Given the description of an element on the screen output the (x, y) to click on. 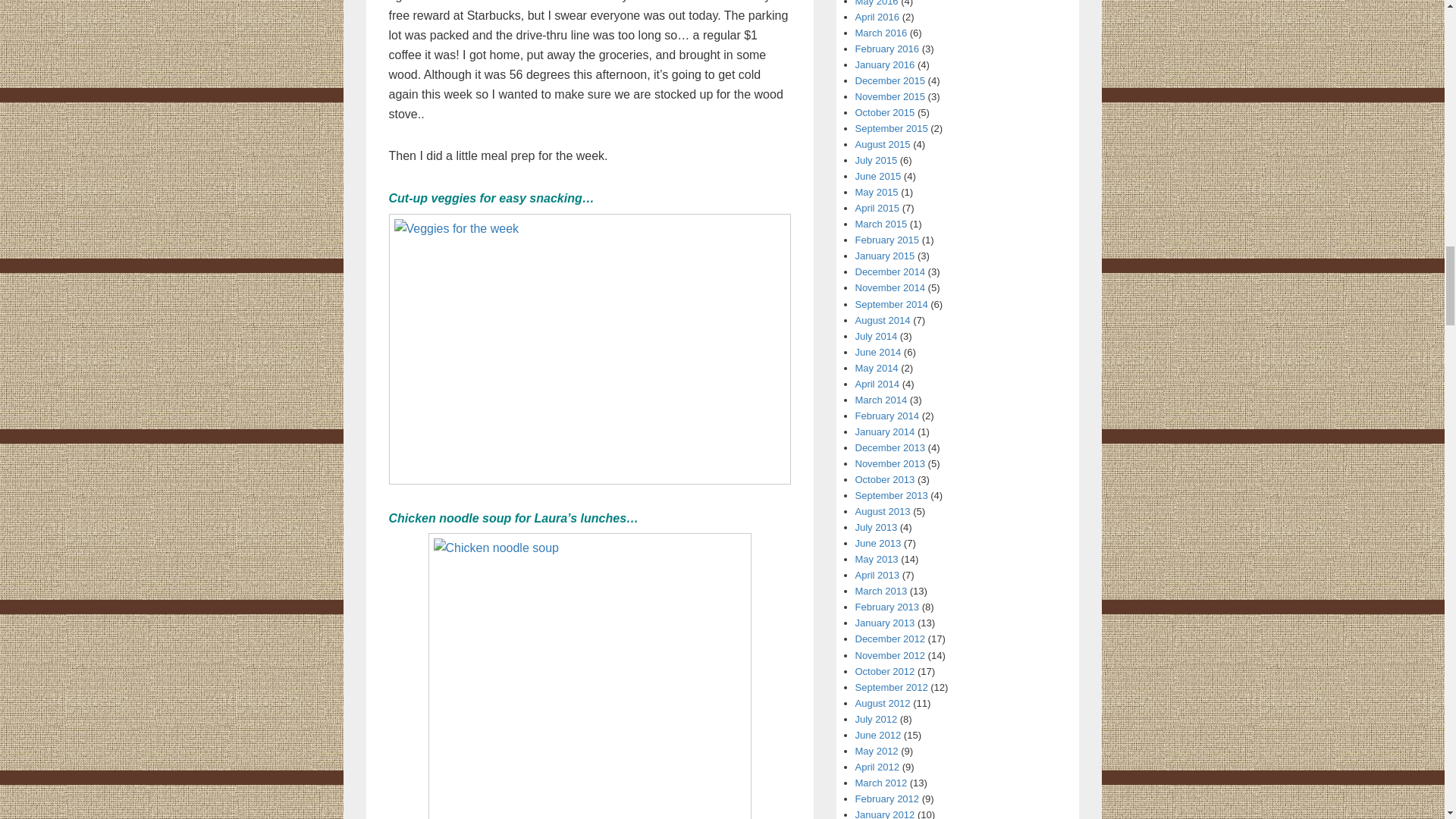
Chicken noodle soup (589, 676)
Veggies for the week (589, 359)
